Given the description of an element on the screen output the (x, y) to click on. 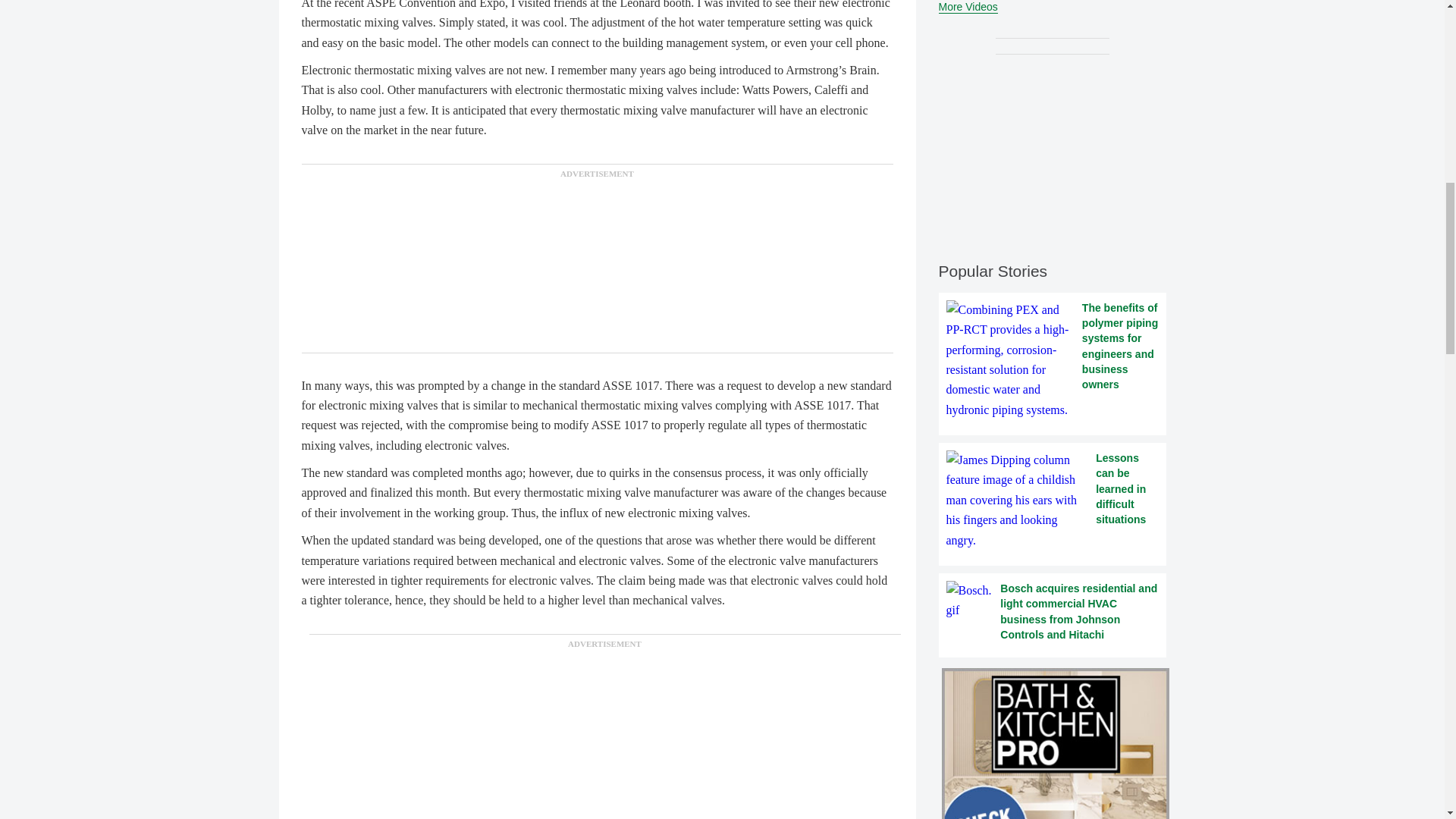
Lessons can be learned in difficult situations (1052, 500)
